Given the description of an element on the screen output the (x, y) to click on. 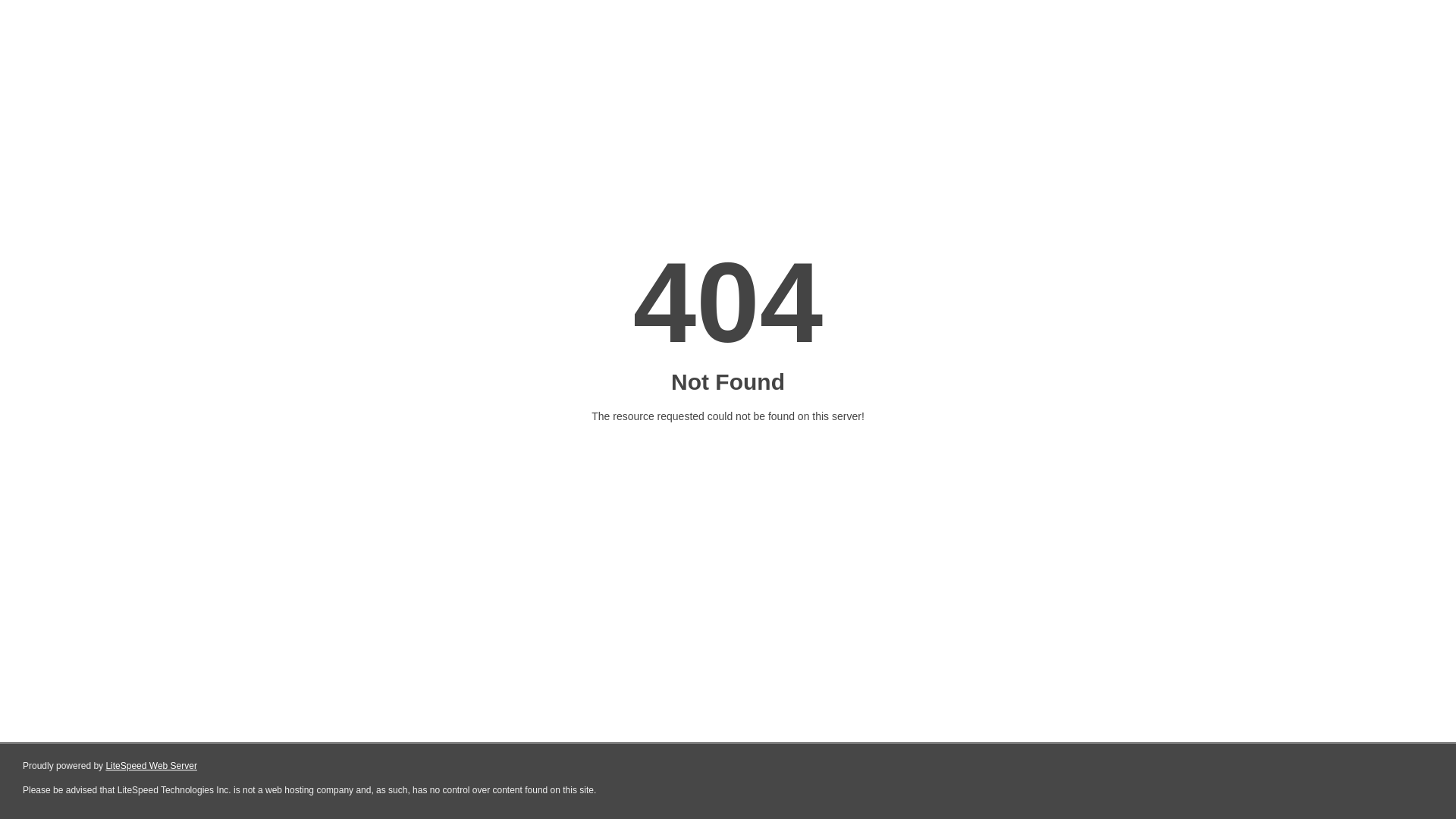
LiteSpeed Web Server Element type: text (151, 765)
